Given the description of an element on the screen output the (x, y) to click on. 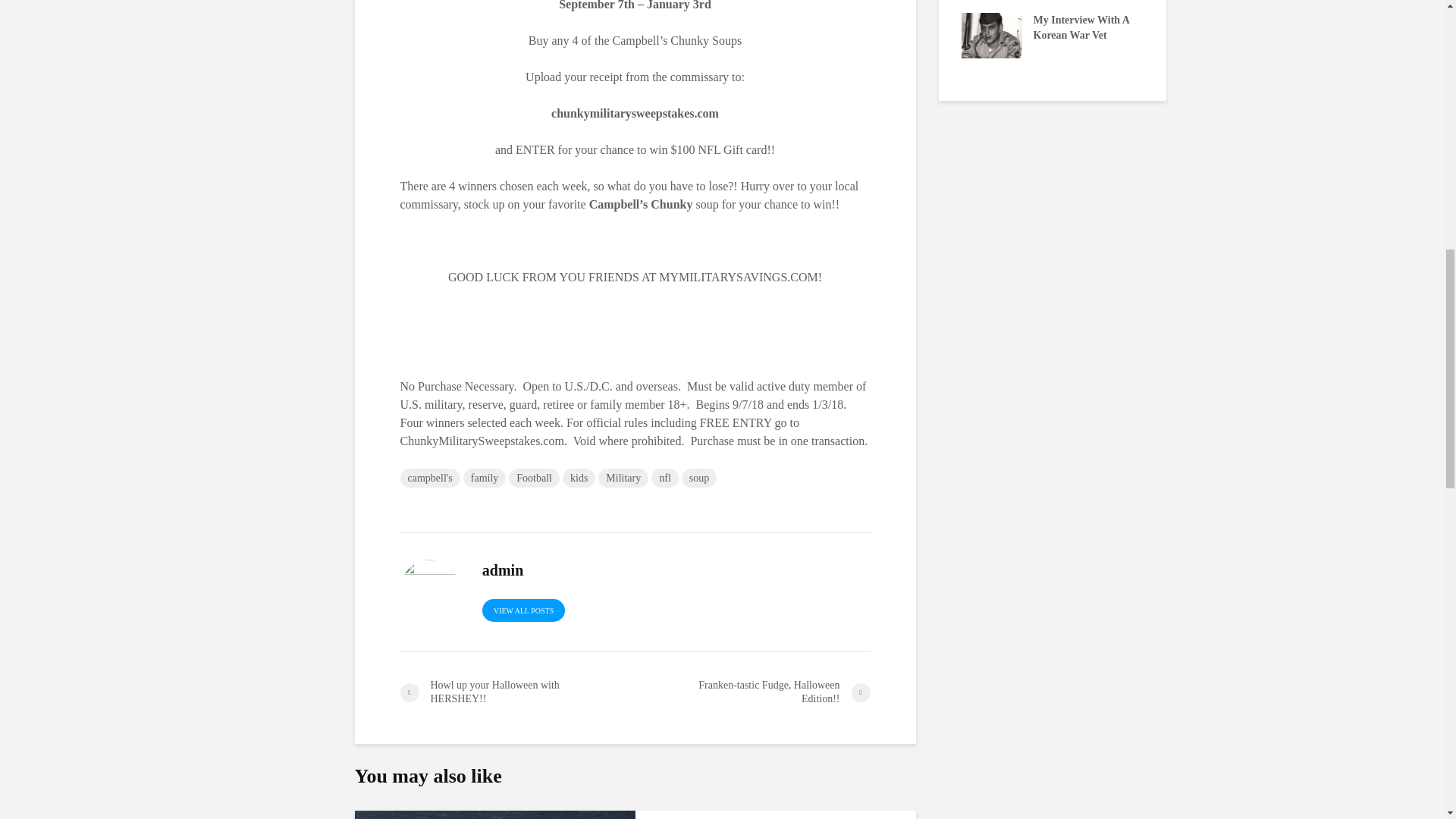
kids (578, 477)
Football (533, 477)
VIEW ALL POSTS (522, 609)
Military (622, 477)
nfl (664, 477)
family (484, 477)
My Interview With A Korean War Vet (991, 34)
campbell's (430, 477)
Franken-tastic Fudge, Halloween Edition!! (752, 691)
soup (698, 477)
Howl up your Halloween with HERSHEY!! (517, 691)
